Given the description of an element on the screen output the (x, y) to click on. 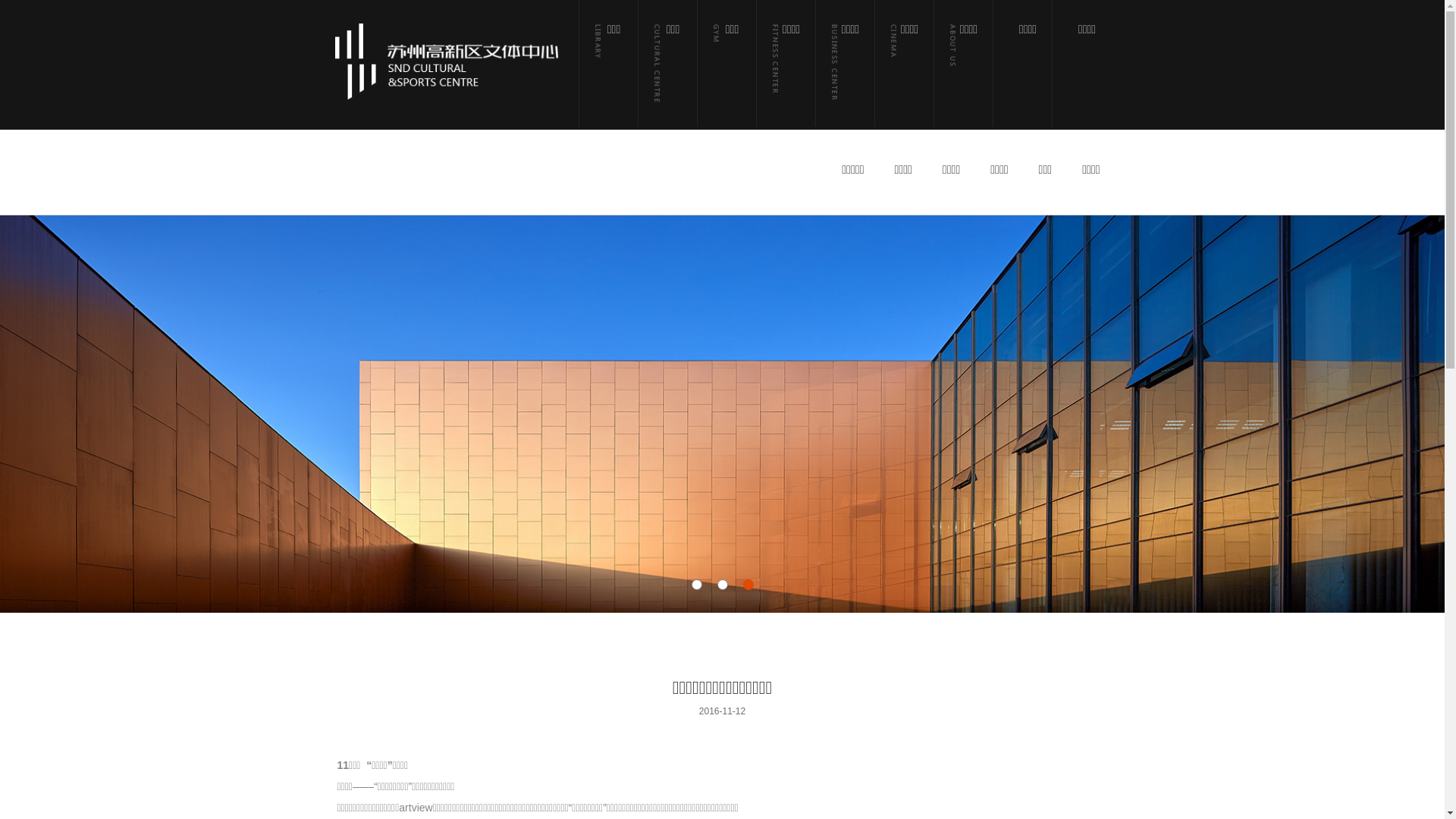
3 Element type: text (748, 584)
1 Element type: text (696, 584)
2 Element type: text (722, 584)
